Given the description of an element on the screen output the (x, y) to click on. 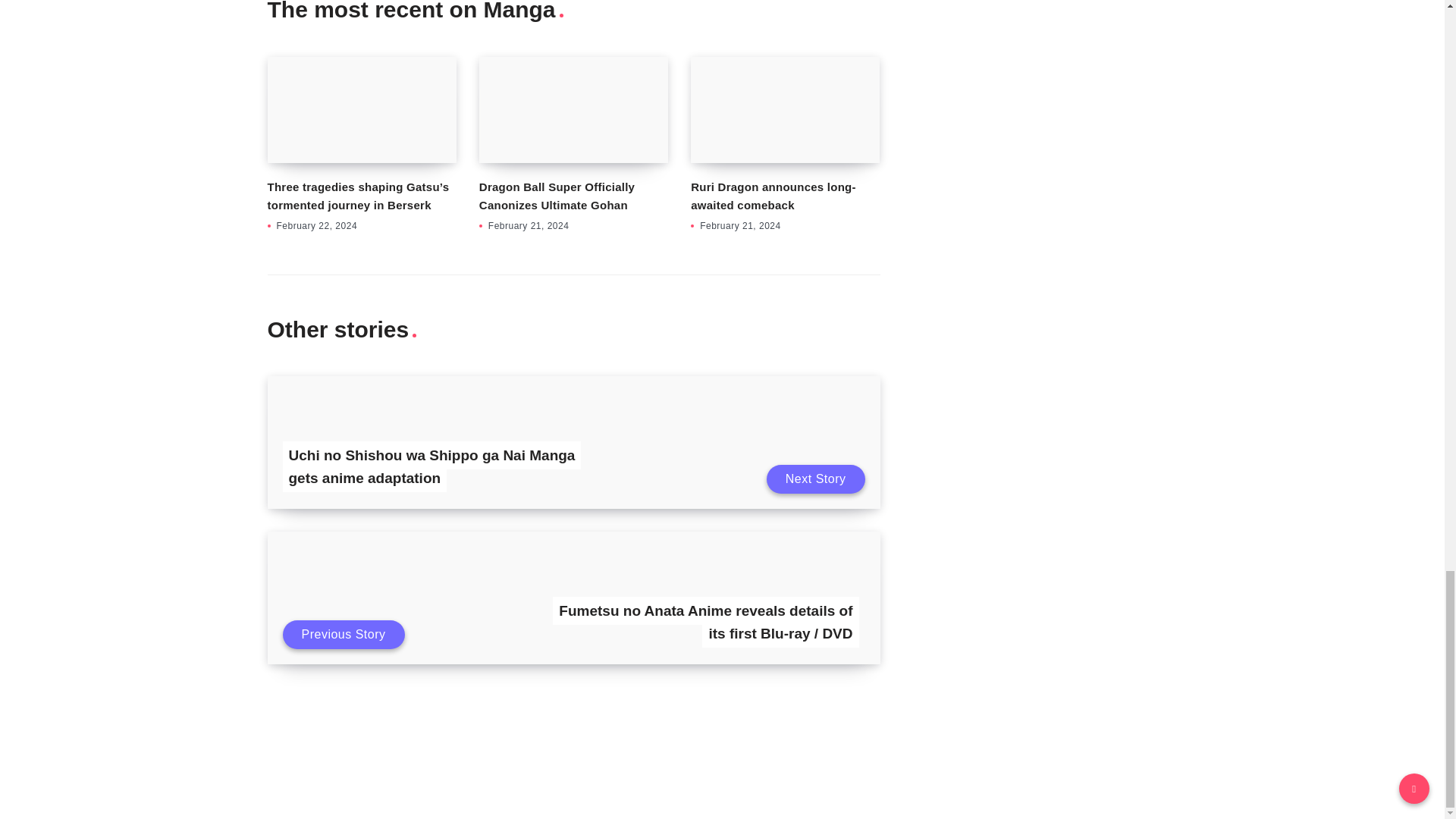
Dragon Ball Super Officially Canonizes Ultimate Gohan (573, 109)
Dragon Ball Super Officially Canonizes Ultimate Gohan (556, 195)
Ruri Dragon announces long-awaited comeback (784, 109)
